Given the description of an element on the screen output the (x, y) to click on. 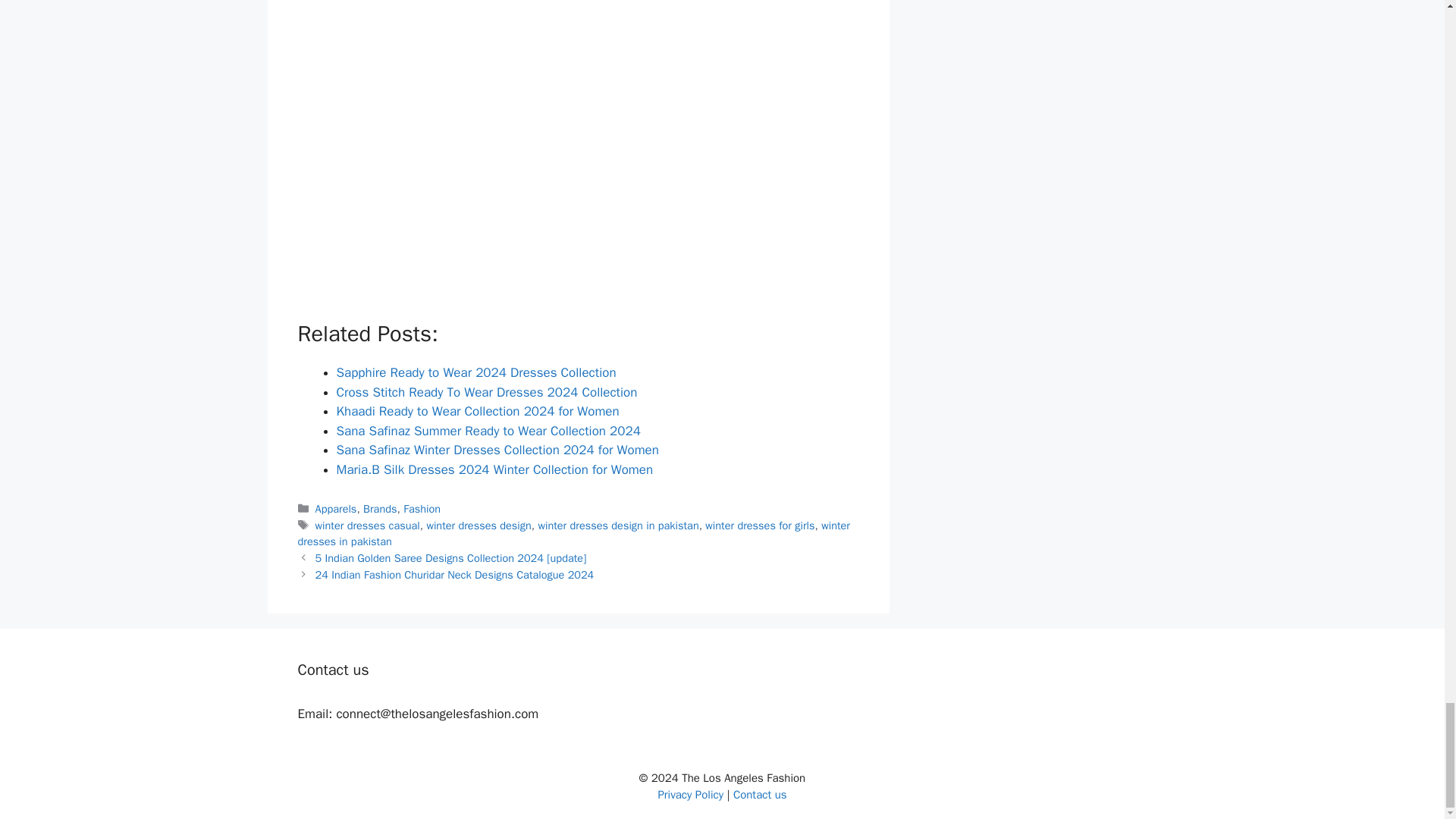
Sana Safinaz Summer Ready to Wear Collection 2024 (488, 430)
Sana Safinaz Winter Dresses Collection 2024 for Women (497, 449)
Sapphire Ready to Wear 2024 Dresses Collection (475, 372)
Fashion (422, 508)
Maria.B Silk Dresses 2024 Winter Collection for Women (494, 469)
Cross Stitch Ready To Wear Dresses 2024 Collection (486, 392)
winter dresses casual (367, 525)
winter dresses in pakistan (572, 533)
winter dresses design (478, 525)
Brands (379, 508)
Khaadi Ready to Wear Collection 2024 for Women (478, 411)
winter dresses design in pakistan (617, 525)
Apparels (335, 508)
24 Indian Fashion Churidar Neck Designs Catalogue 2024 (454, 574)
winter dresses for girls (758, 525)
